Given the description of an element on the screen output the (x, y) to click on. 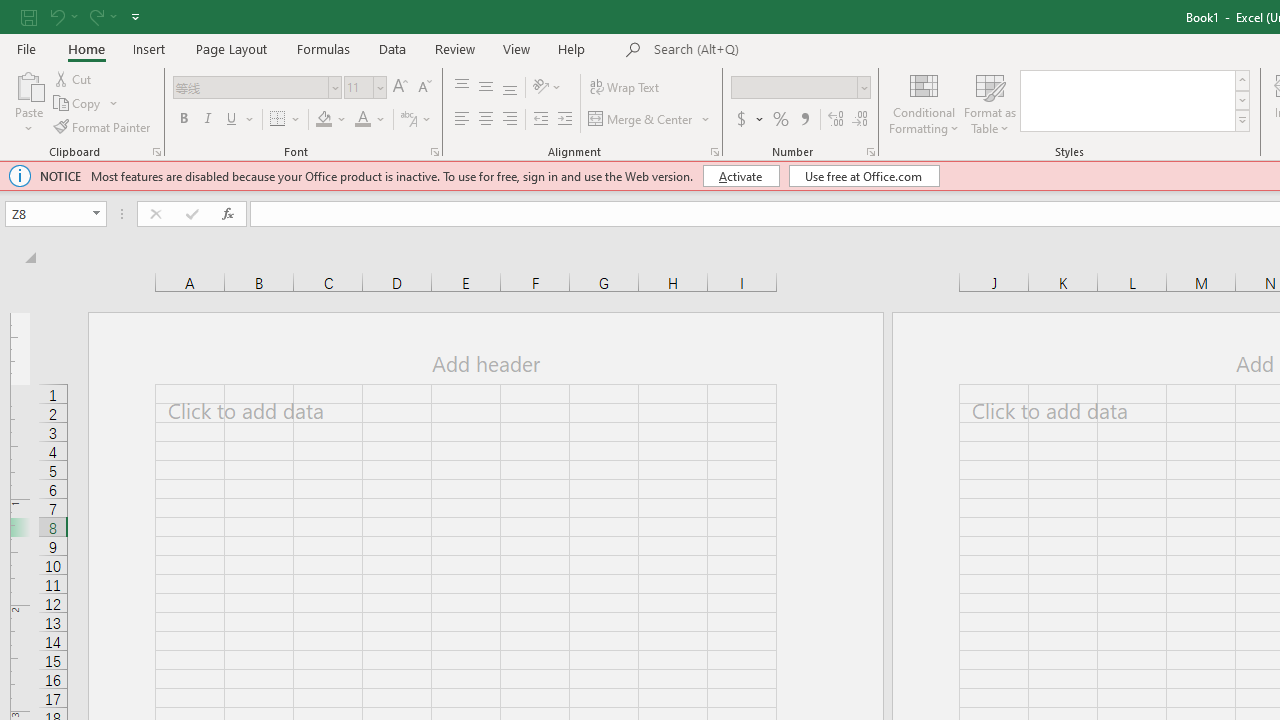
Merge & Center (641, 119)
Font Color (370, 119)
Format Painter (103, 126)
Format as Table (990, 102)
Format Cell Font (434, 151)
Copy (85, 103)
Bottom Border (278, 119)
Orientation (547, 87)
